Given the description of an element on the screen output the (x, y) to click on. 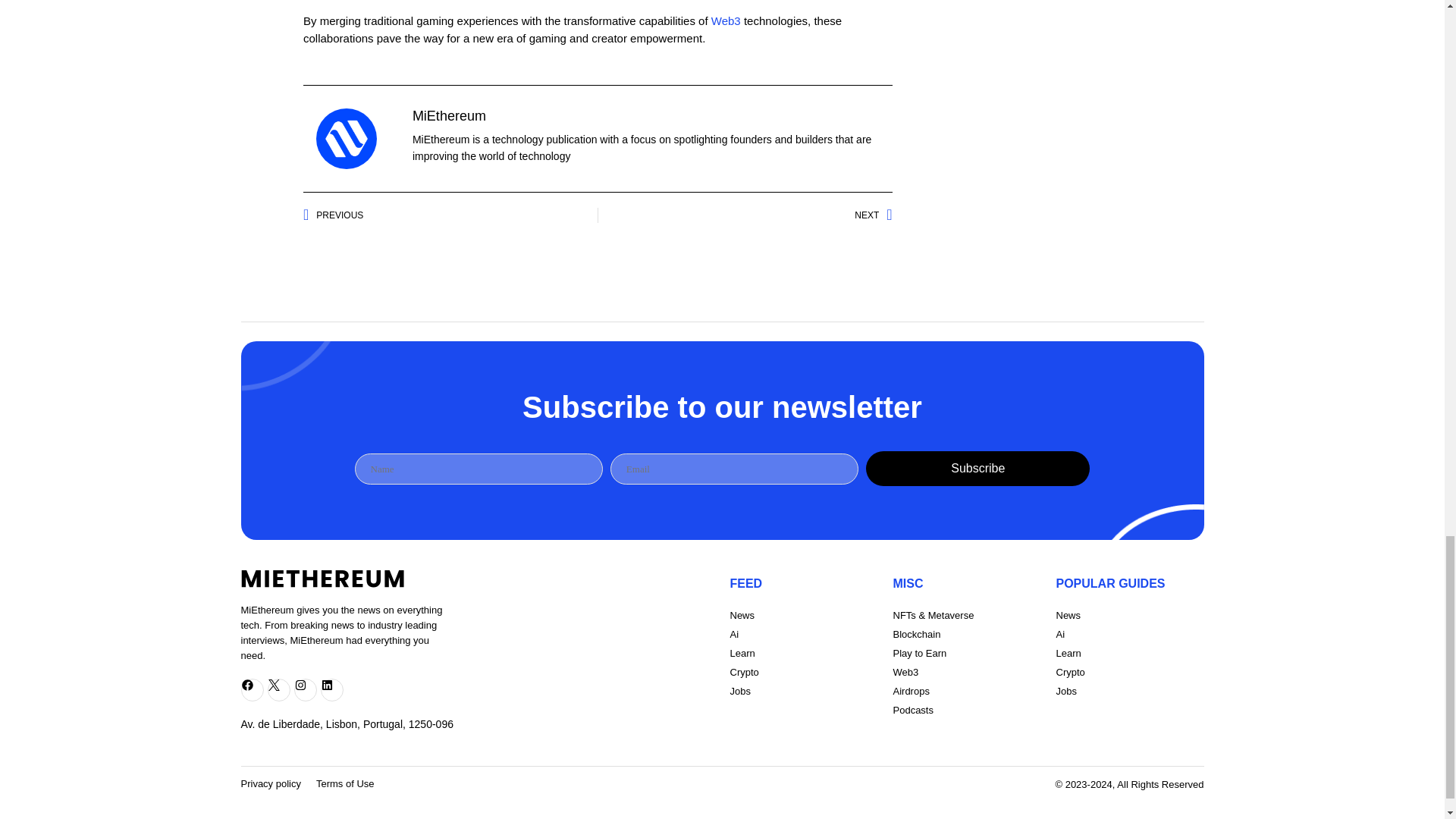
PREVIOUS (449, 215)
MiEthereum (449, 115)
NEXT (745, 215)
Web3 (726, 20)
